Given the description of an element on the screen output the (x, y) to click on. 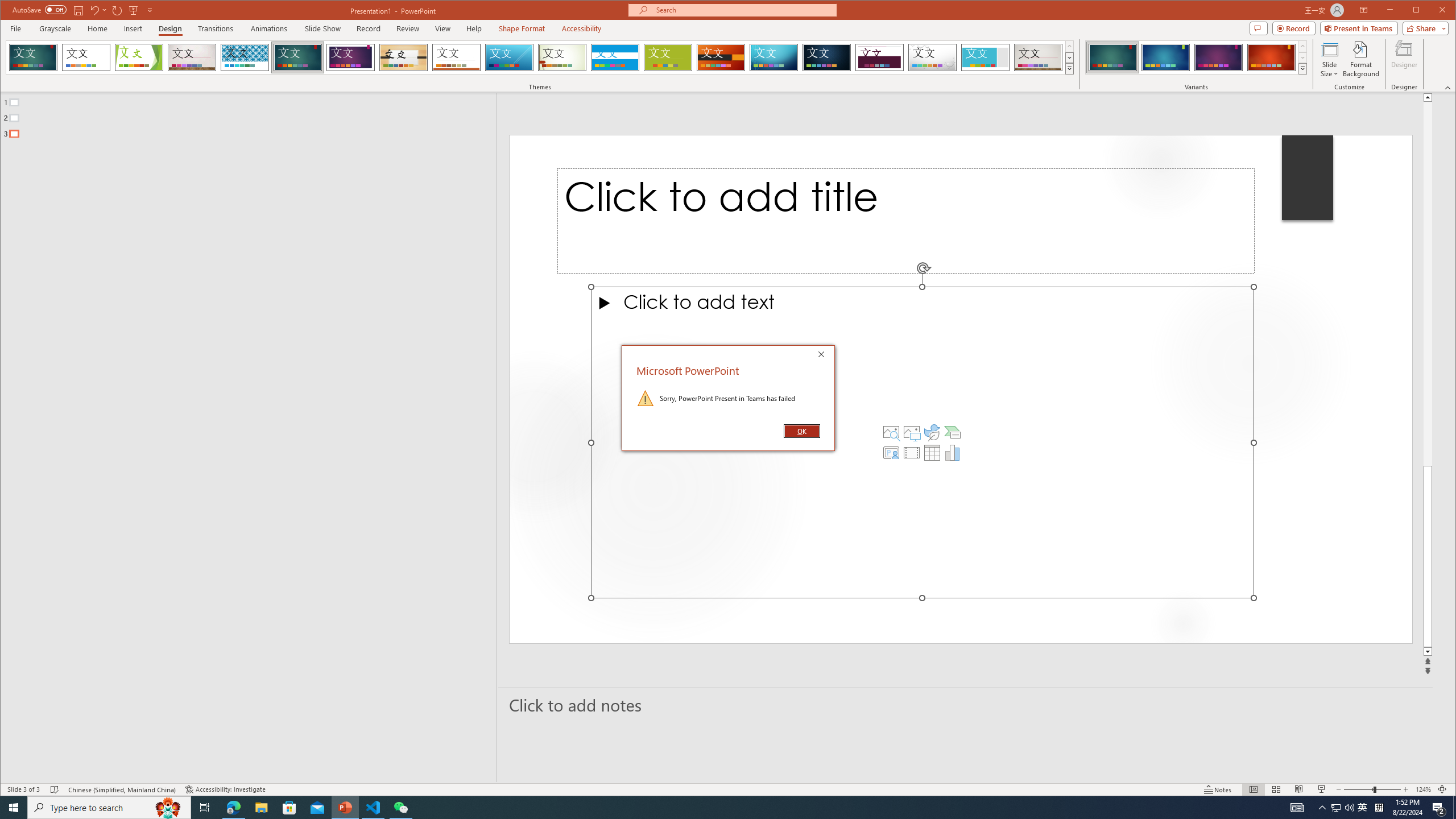
Ion Boardroom (350, 57)
Themes (1069, 68)
Variants (1302, 68)
Slide Size (1328, 59)
Pictures (911, 432)
AutomationID: SlideThemesGallery (540, 57)
Action Center, 2 new notifications (1439, 807)
Dividend (879, 57)
